Given the description of an element on the screen output the (x, y) to click on. 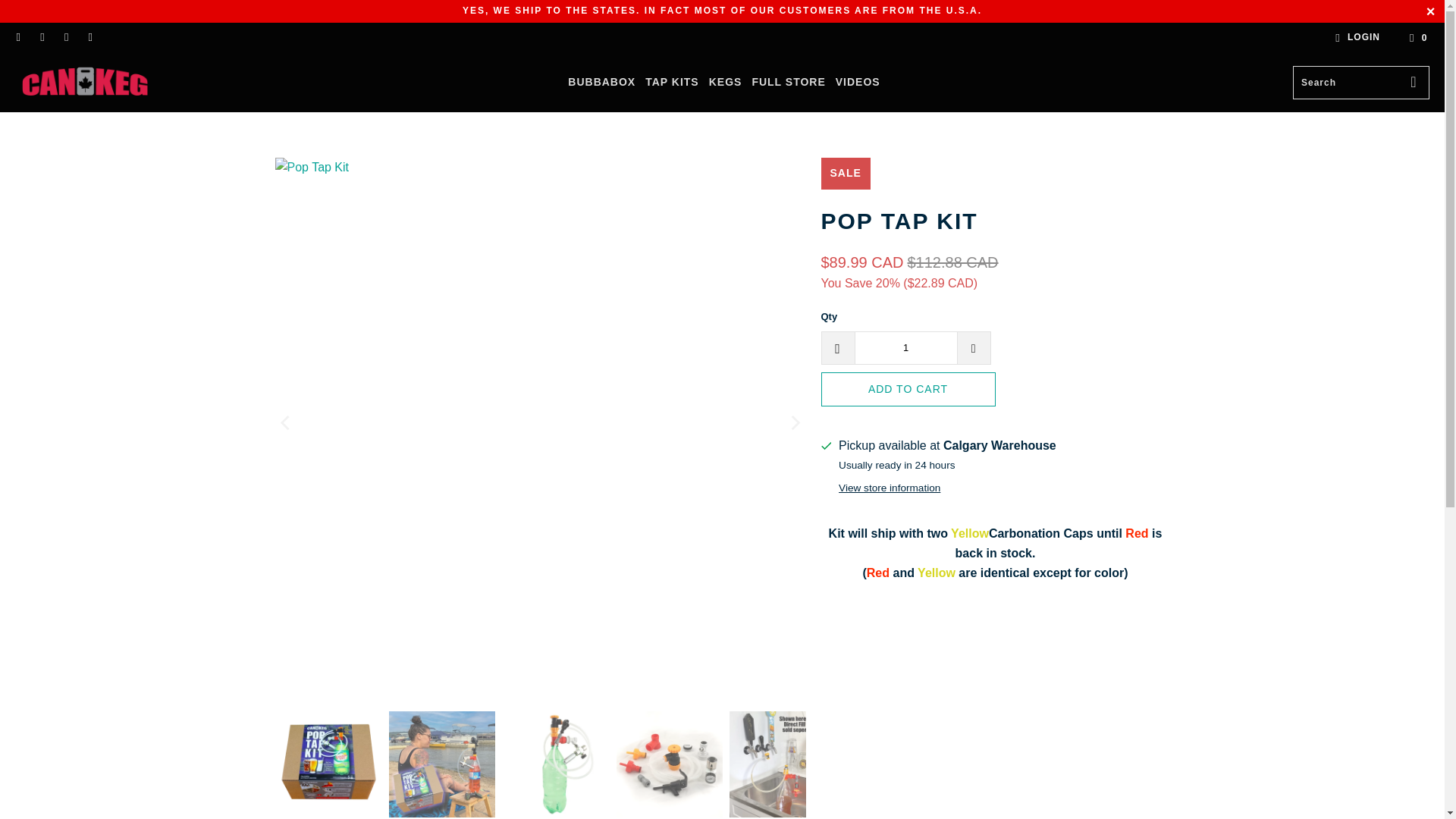
Email CanKeg (89, 37)
FULL STORE (788, 82)
YouTube video player (995, 680)
CanKeg on Facebook (17, 37)
BUBBABOX (600, 82)
CanKeg on Instagram (65, 37)
1 (904, 347)
YouTube video player (995, 798)
TAP KITS (671, 82)
LOGIN (1355, 37)
